Given the description of an element on the screen output the (x, y) to click on. 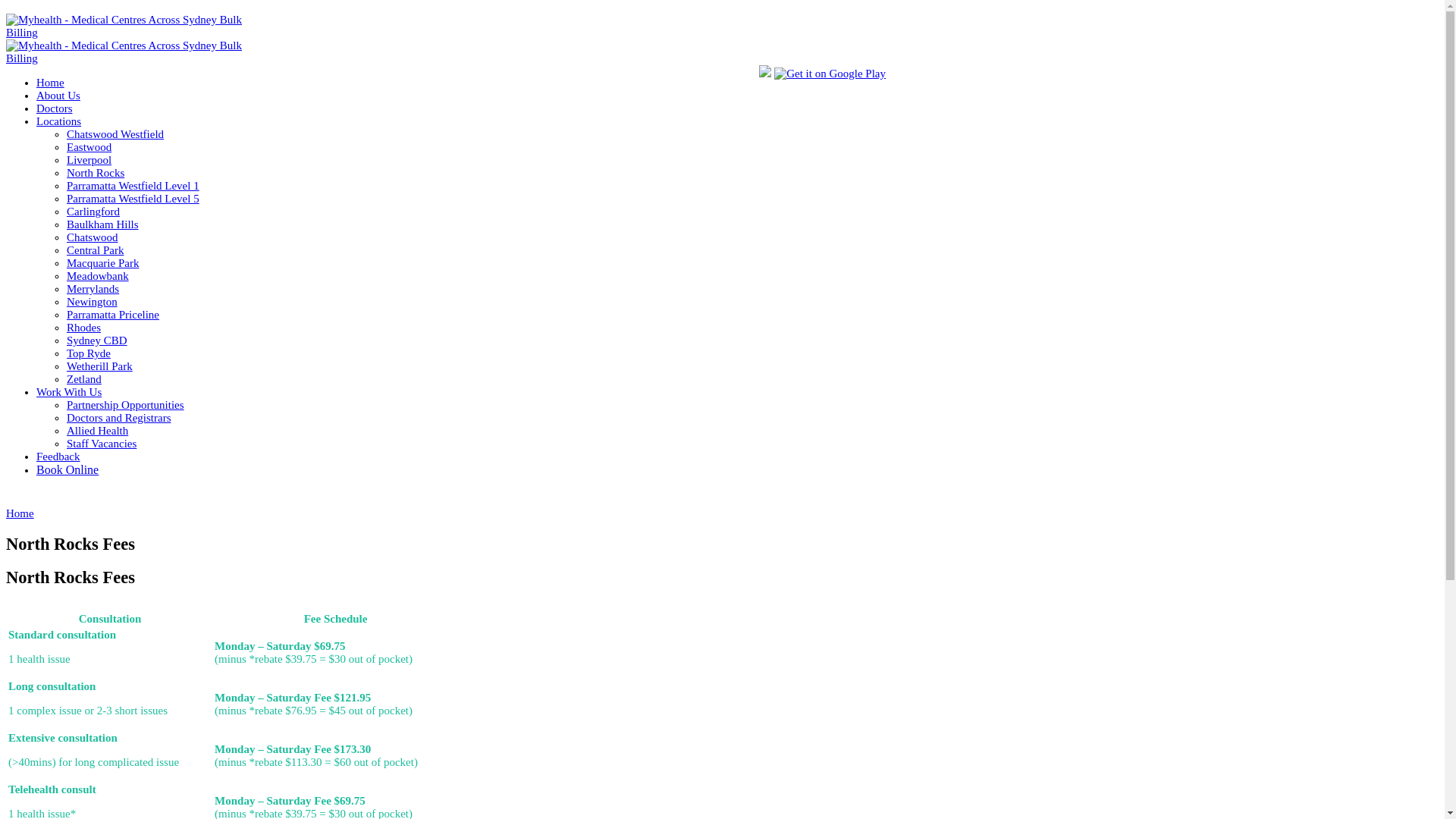
Home Element type: text (50, 82)
Liverpool Element type: text (88, 159)
Parramatta Westfield Level 5 Element type: text (132, 198)
Feedback Element type: text (57, 456)
Newington Element type: text (91, 301)
Myhealth -  Medical Centres Across Sydney Bulk Billing Element type: hover (137, 52)
Chatswood Westfield Element type: text (114, 134)
Work With Us Element type: text (68, 391)
Top Ryde Element type: text (88, 353)
About Us Element type: text (58, 95)
Staff Vacancies Element type: text (101, 443)
Locations Element type: text (58, 121)
Macquarie Park Element type: text (102, 263)
Doctors and Registrars Element type: text (118, 417)
Wetherill Park Element type: text (99, 366)
Partnership Opportunities Element type: text (125, 404)
Baulkham Hills Element type: text (102, 224)
Zetland Element type: text (83, 379)
Home Element type: text (20, 513)
North Rocks Element type: text (95, 172)
Eastwood Element type: text (88, 147)
Central Park Element type: text (94, 250)
Parramatta Priceline Element type: text (112, 314)
Book Online Element type: text (67, 469)
Merrylands Element type: text (92, 288)
Parramatta Westfield Level 1 Element type: text (132, 185)
Rhodes Element type: text (83, 327)
Allied Health Element type: text (97, 430)
Sydney CBD Element type: text (96, 340)
Chatswood Element type: text (92, 237)
Doctors Element type: text (54, 108)
Meadowbank Element type: text (97, 275)
Myhealth -  Medical Centres Across Sydney Bulk Billing Element type: hover (137, 26)
Carlingford Element type: text (92, 211)
Myhealth -  Medical Centres Across Sydney Bulk Billing Element type: hover (137, 45)
